Given the description of an element on the screen output the (x, y) to click on. 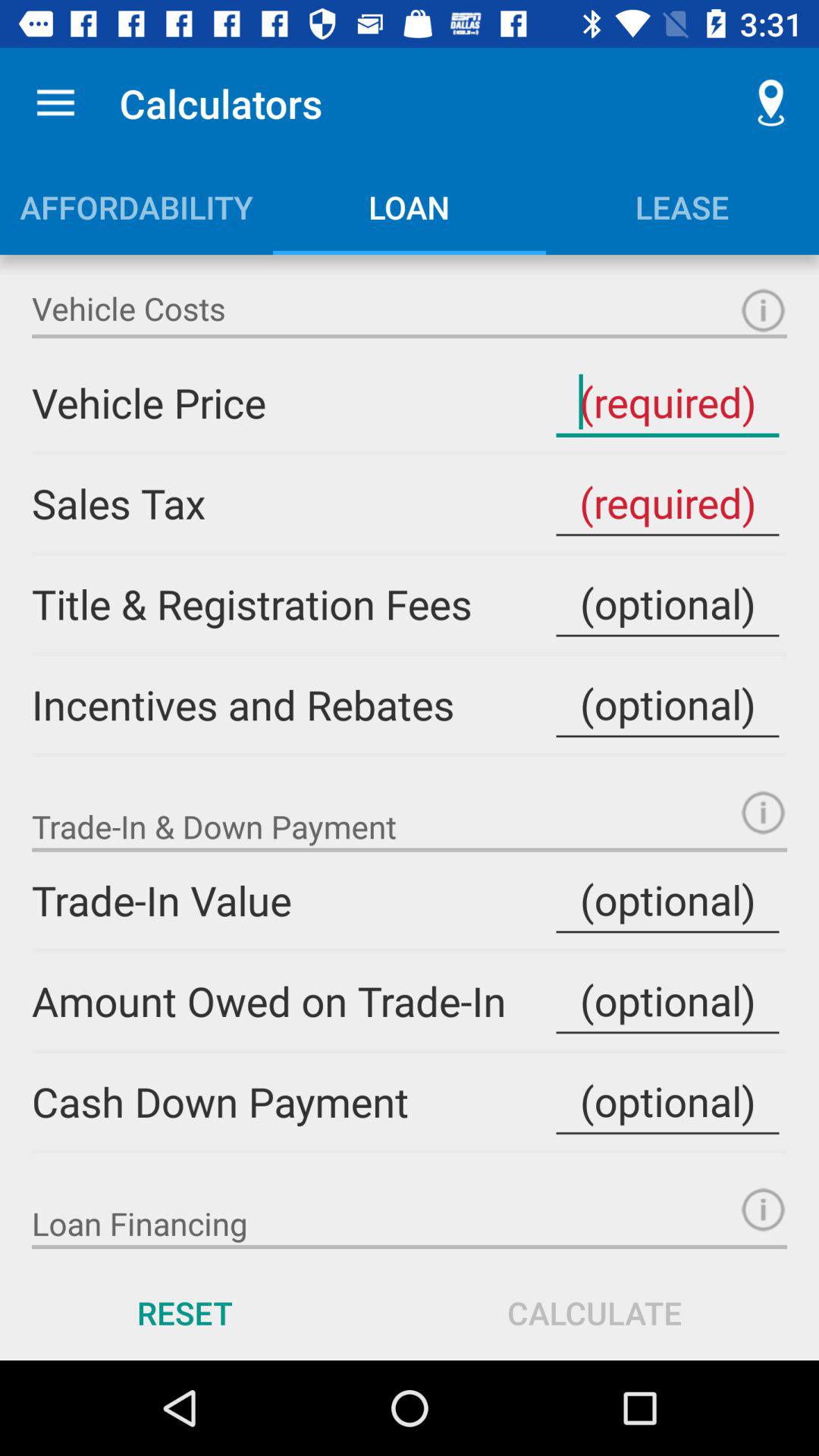
more info (763, 310)
